Given the description of an element on the screen output the (x, y) to click on. 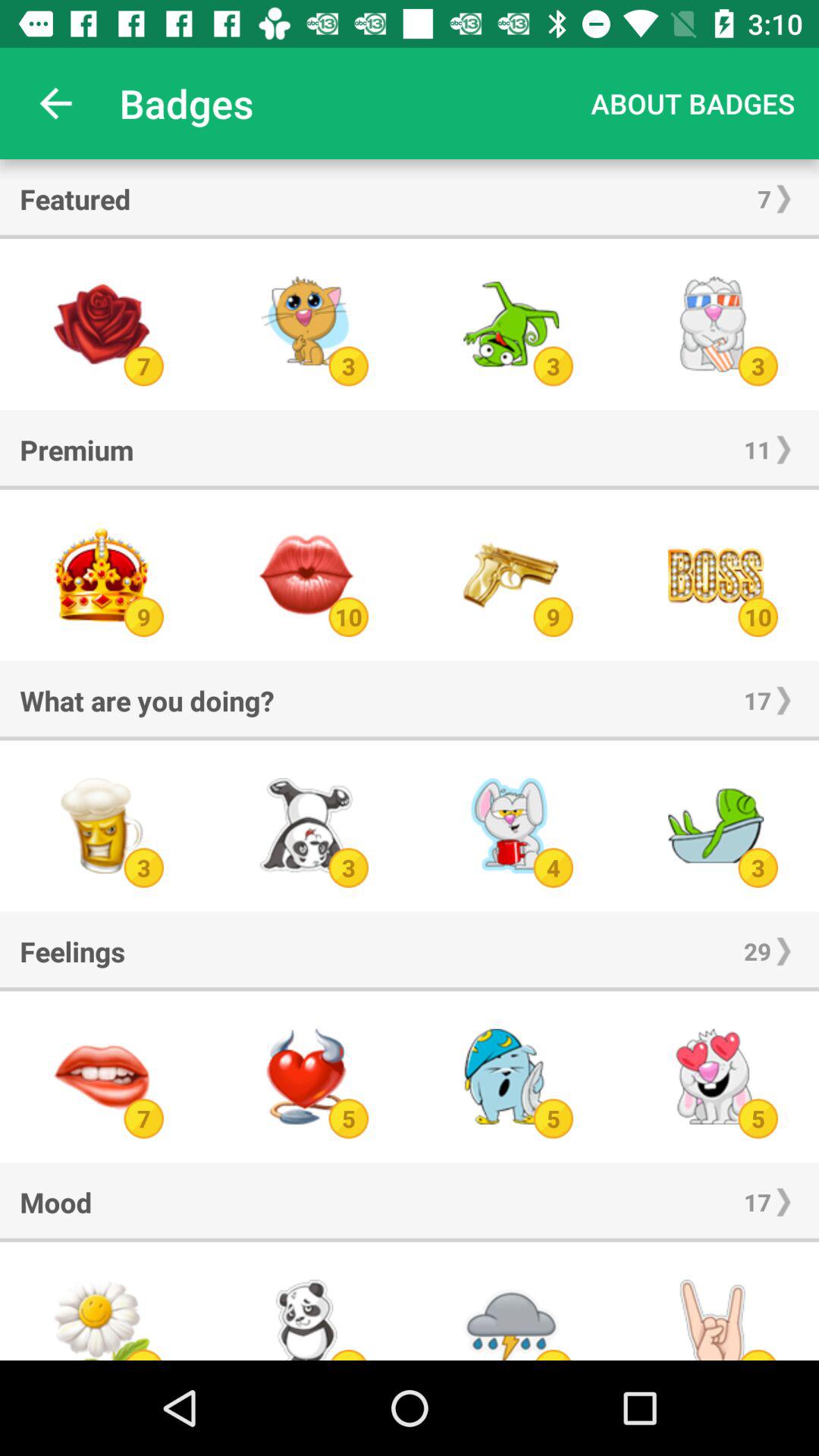
turn off item to the left of badges app (55, 103)
